Given the description of an element on the screen output the (x, y) to click on. 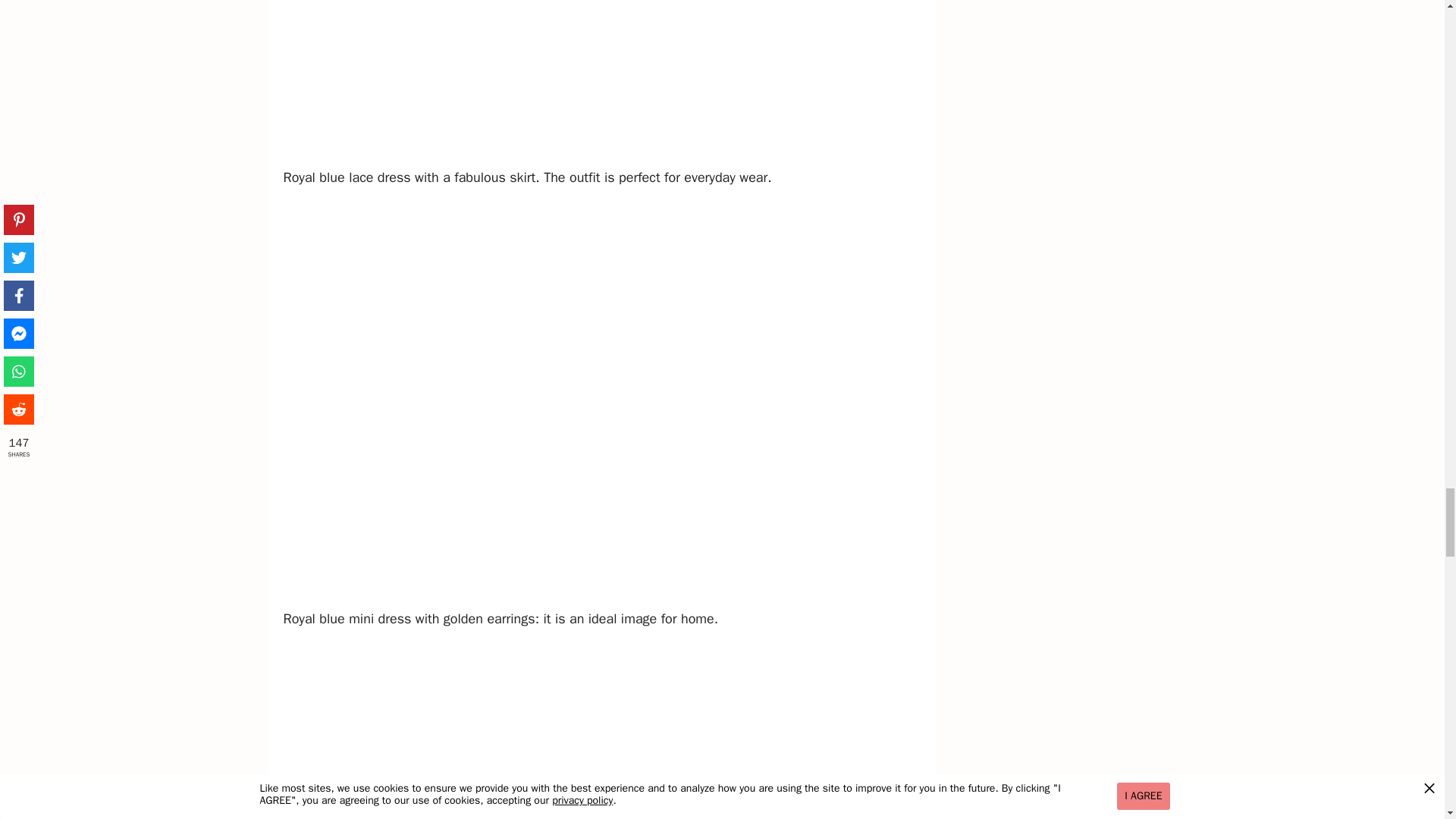
colors that go with royal blue mini dress photo (604, 731)
colors that go with royal blue striped dress photo (605, 82)
